Given the description of an element on the screen output the (x, y) to click on. 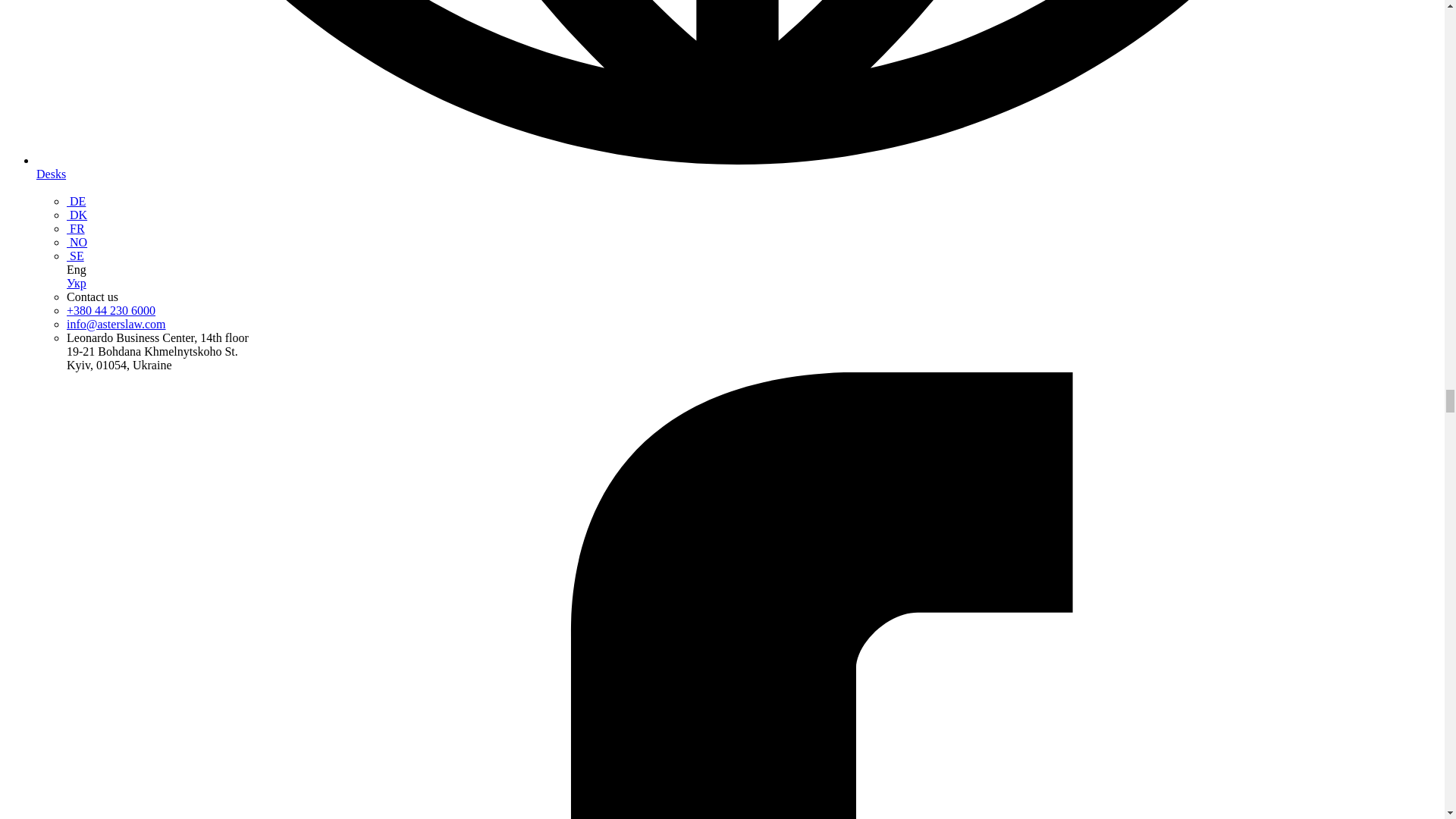
SE (75, 255)
DK (76, 214)
DE (75, 201)
FR (75, 228)
NO (76, 241)
